Given the description of an element on the screen output the (x, y) to click on. 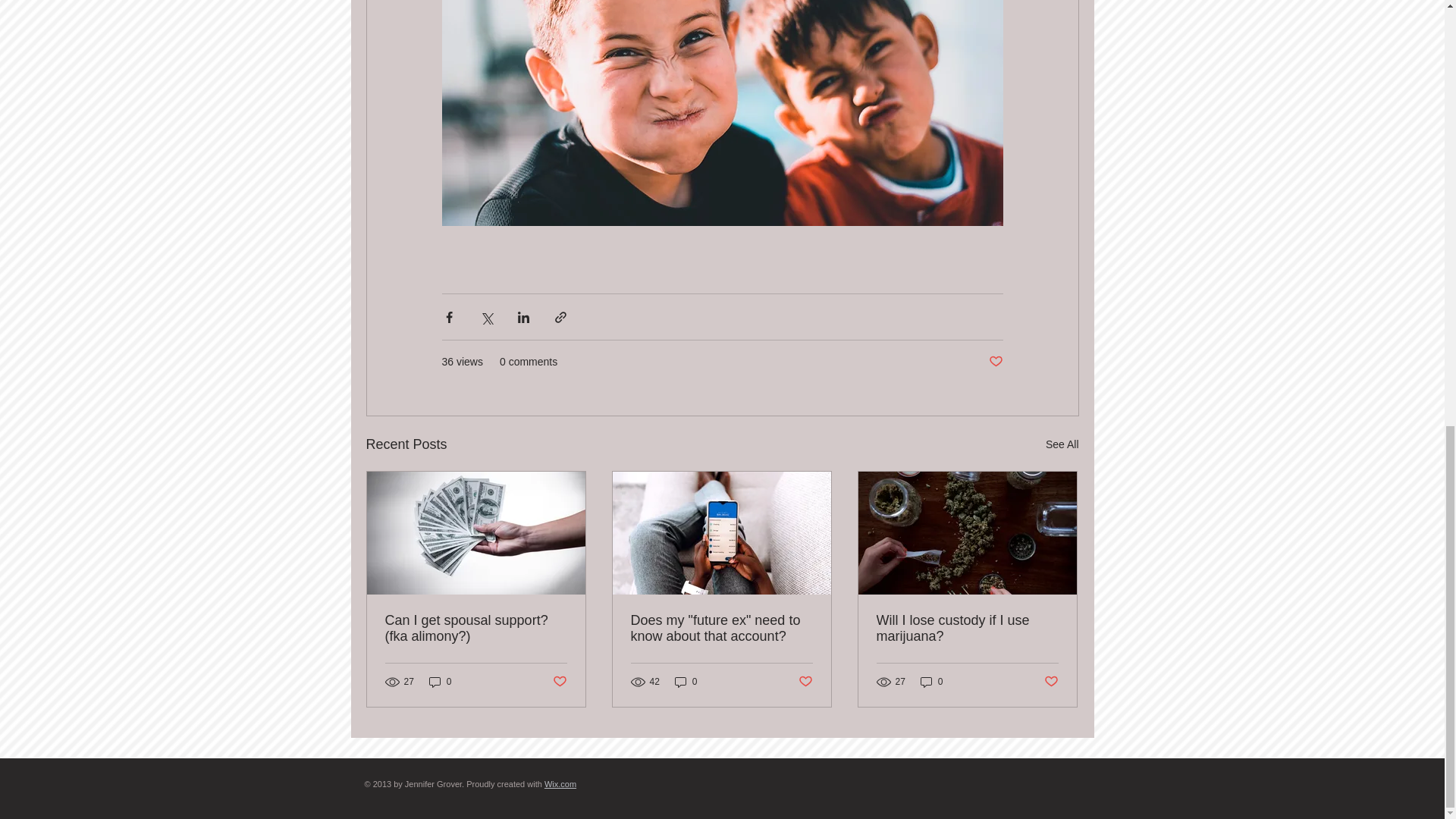
0 (685, 681)
0 (931, 681)
Post not marked as liked (995, 361)
Will I lose custody if I use marijuana? (967, 628)
0 (440, 681)
Post not marked as liked (1050, 682)
Post not marked as liked (804, 682)
See All (1061, 444)
Post not marked as liked (558, 682)
Wix.com (560, 783)
Does my "future ex" need to know about that account? (721, 628)
